Given the description of an element on the screen output the (x, y) to click on. 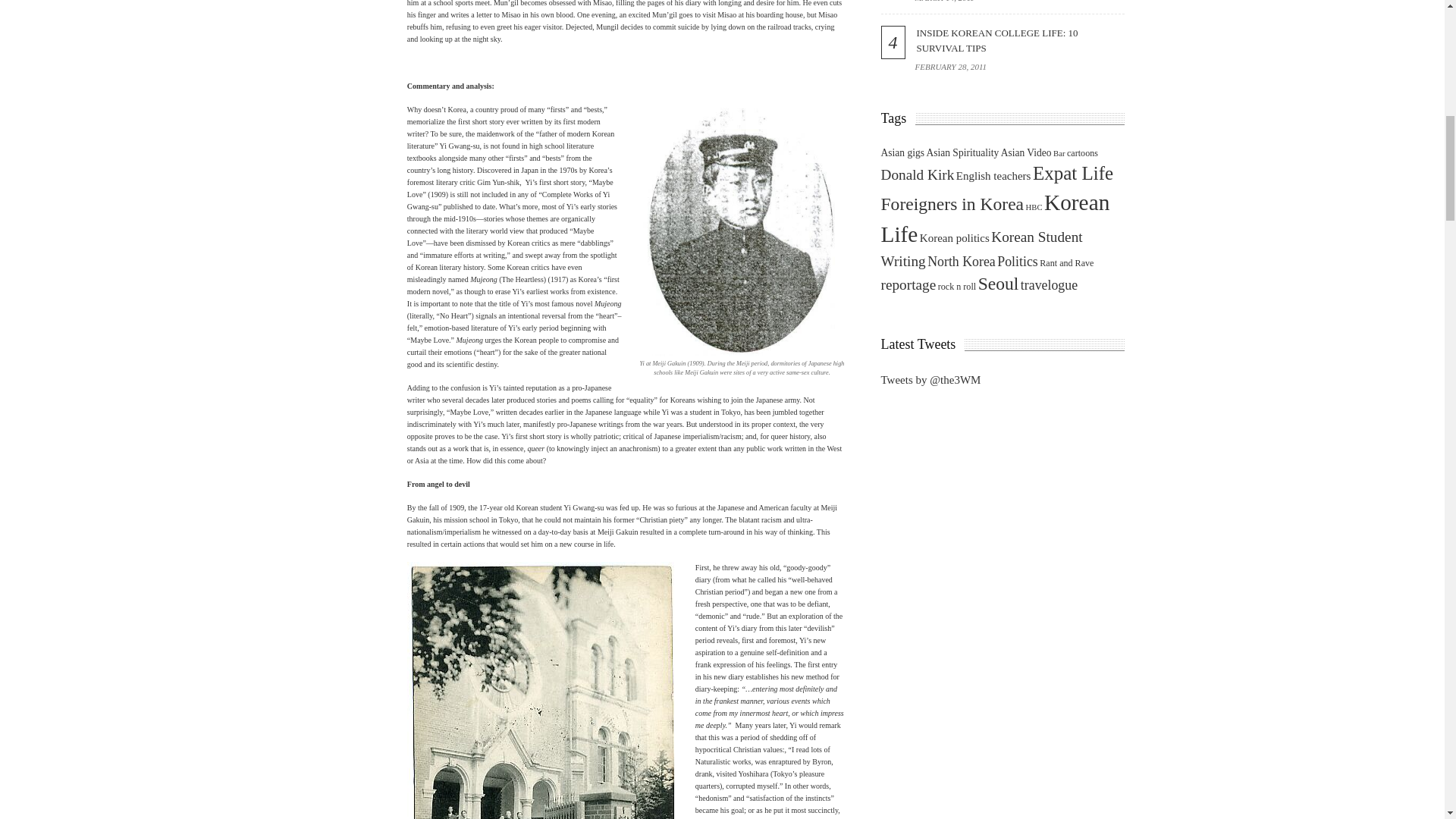
MGK (542, 690)
